Given the description of an element on the screen output the (x, y) to click on. 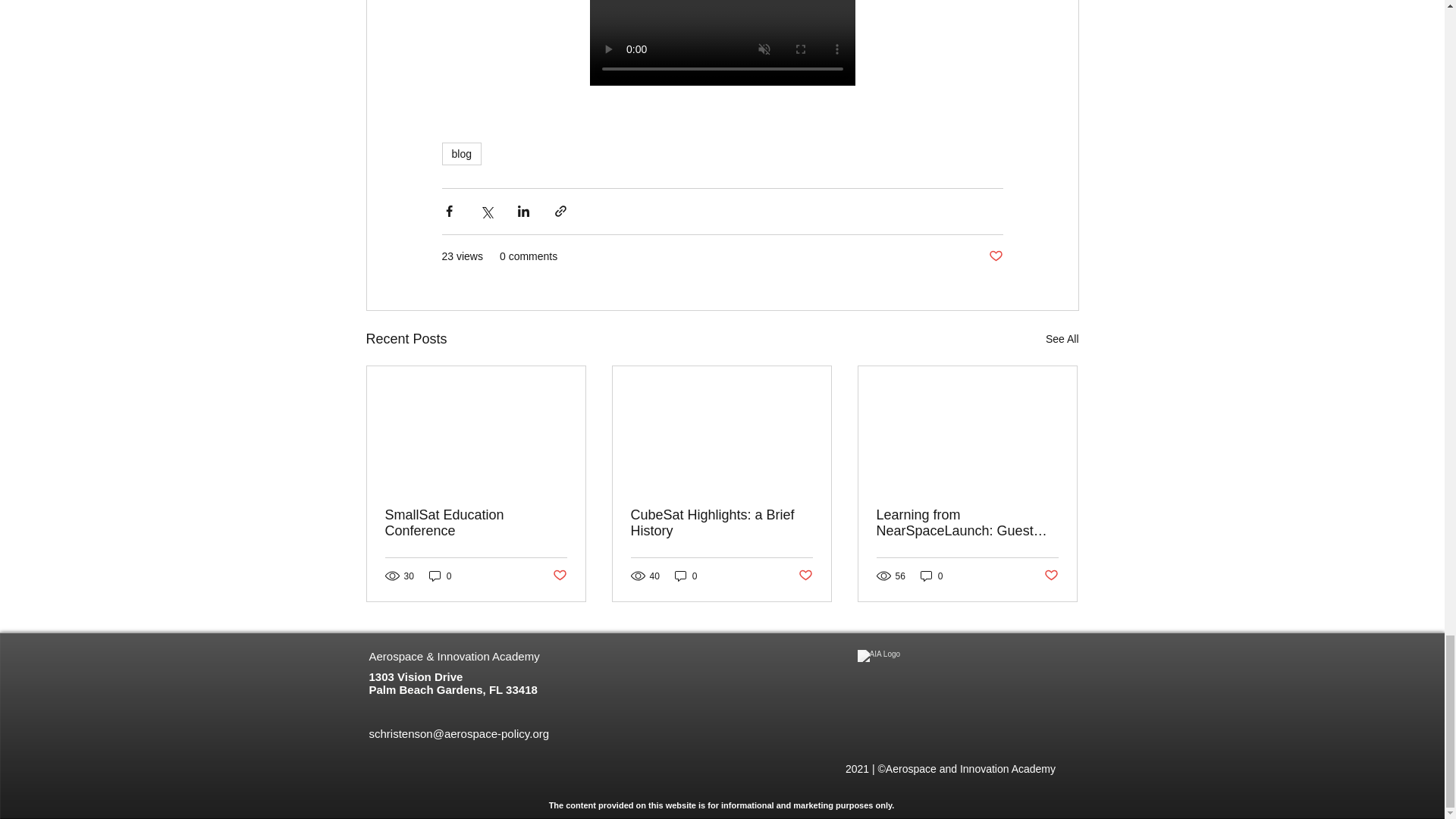
See All (1061, 339)
SmallSat Education Conference (476, 522)
Post not marked as liked (558, 575)
blog (460, 153)
0 (685, 575)
0 (440, 575)
Post not marked as liked (995, 256)
CubeSat Highlights: a Brief History (721, 522)
0 (931, 575)
